Given the description of an element on the screen output the (x, y) to click on. 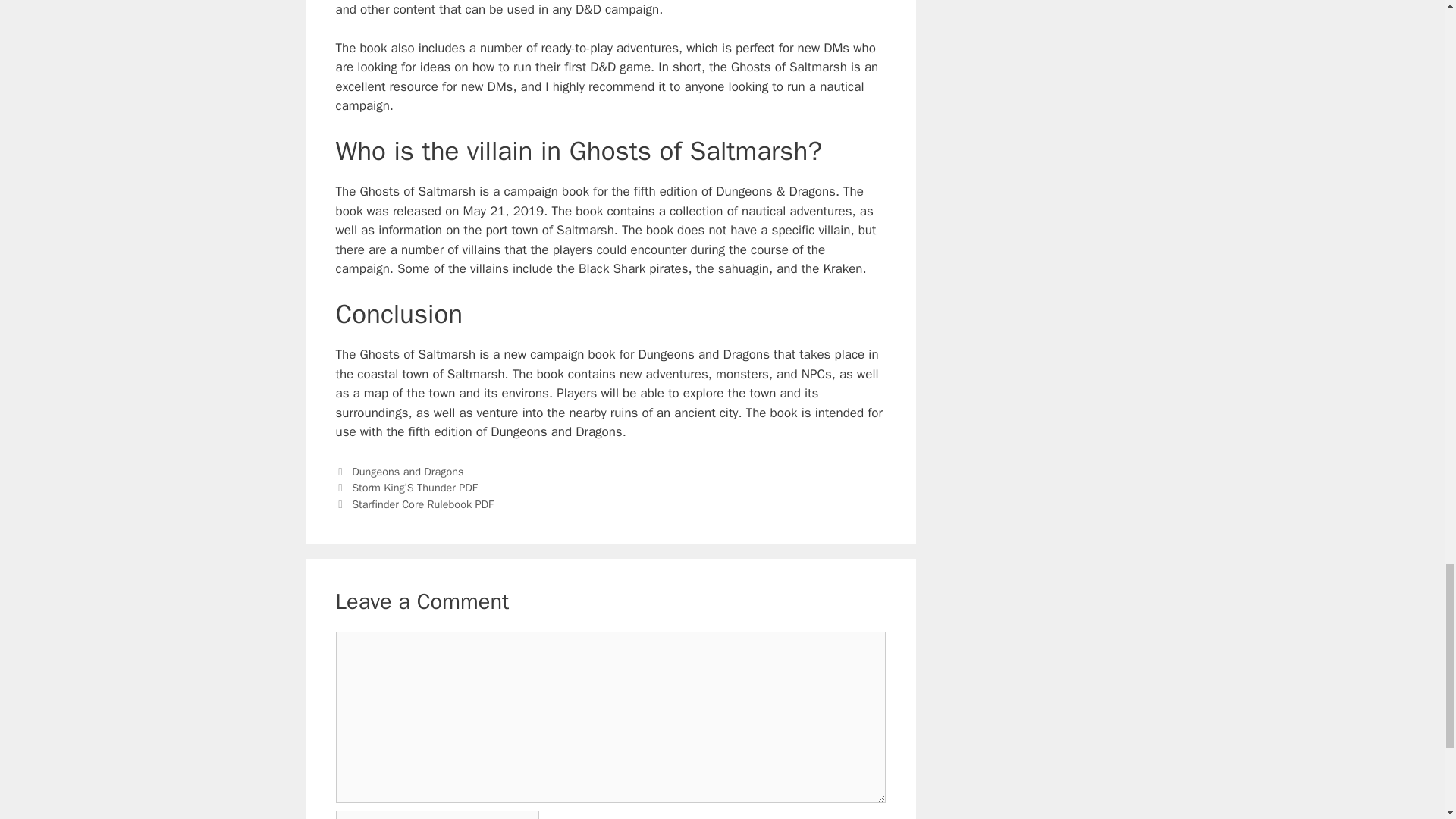
Starfinder Core Rulebook PDF (422, 504)
Dungeons and Dragons (407, 471)
